Given the description of an element on the screen output the (x, y) to click on. 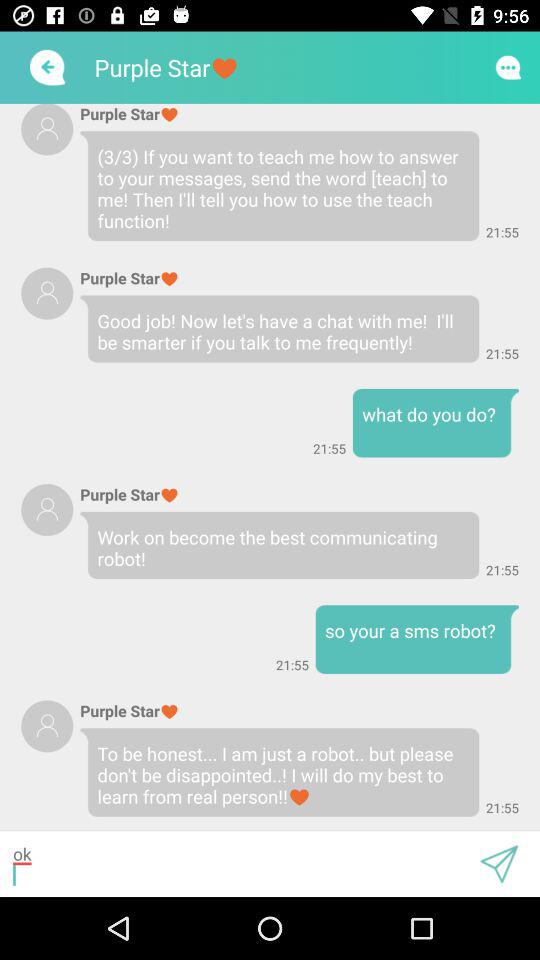
profile pic (47, 293)
